Given the description of an element on the screen output the (x, y) to click on. 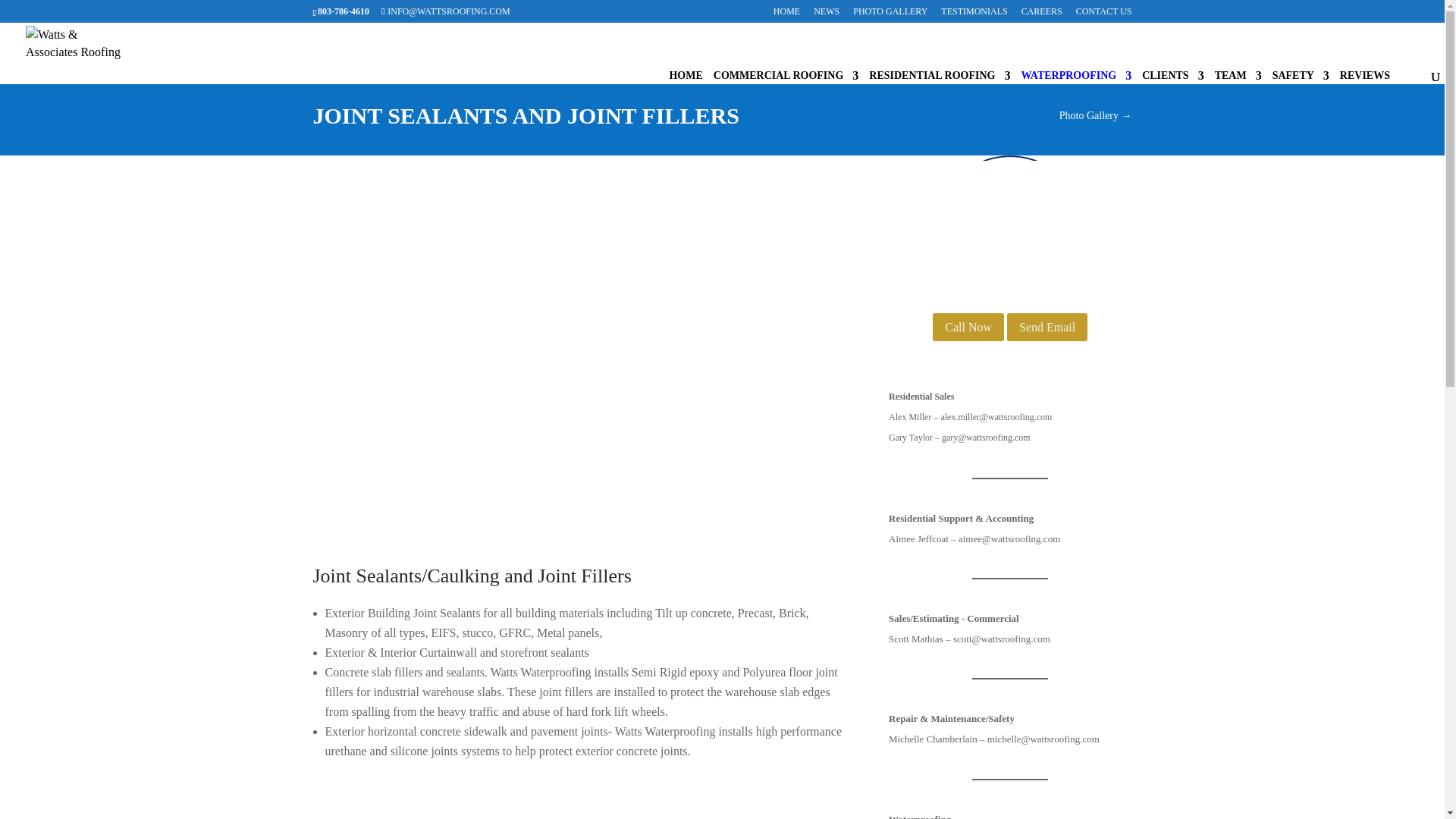
CONTACT US (1103, 14)
COMMERCIAL ROOFING (786, 99)
HOME (786, 14)
RESIDENTIAL ROOFING (939, 99)
CLIENTS (1172, 99)
WATERPROOFING (1075, 99)
NEWS (826, 14)
PHOTO GALLERY (890, 14)
TESTIMONIALS (973, 14)
CAREERS (1042, 14)
